Given the description of an element on the screen output the (x, y) to click on. 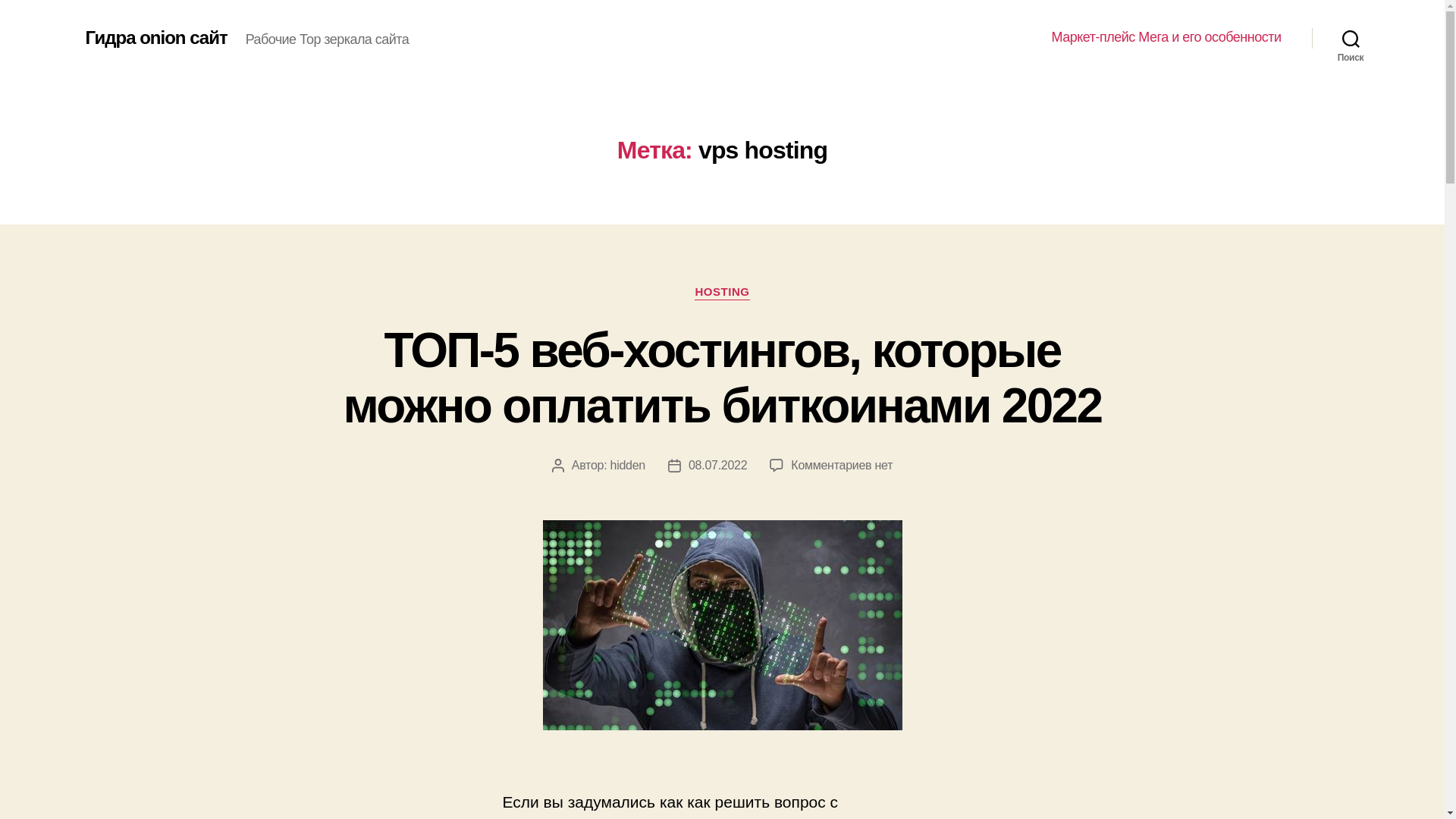
HOSTING Element type: text (721, 292)
08.07.2022 Element type: text (717, 464)
hidden Element type: text (627, 464)
